Given the description of an element on the screen output the (x, y) to click on. 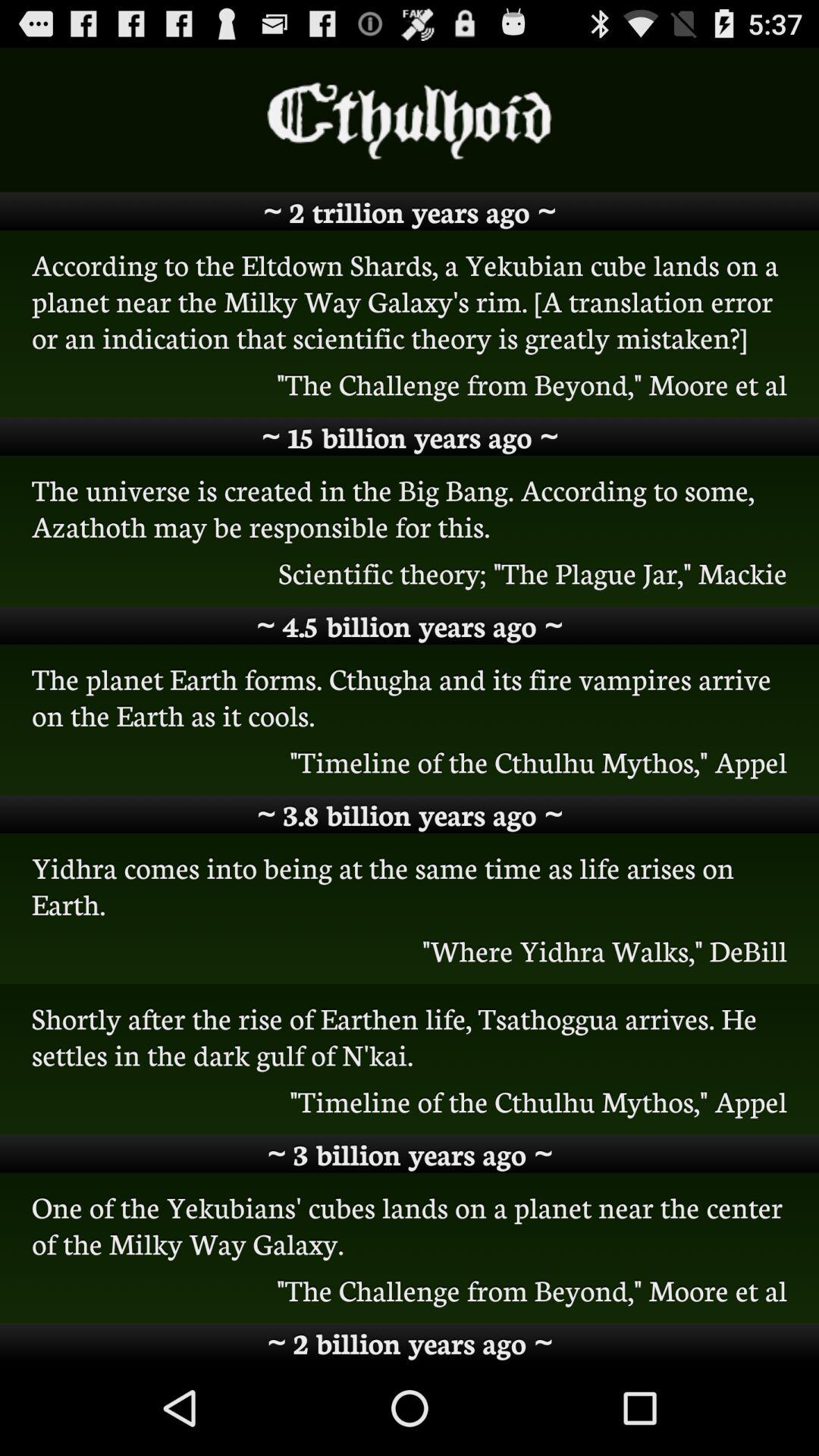
tap item below the 15 billion years icon (409, 507)
